Given the description of an element on the screen output the (x, y) to click on. 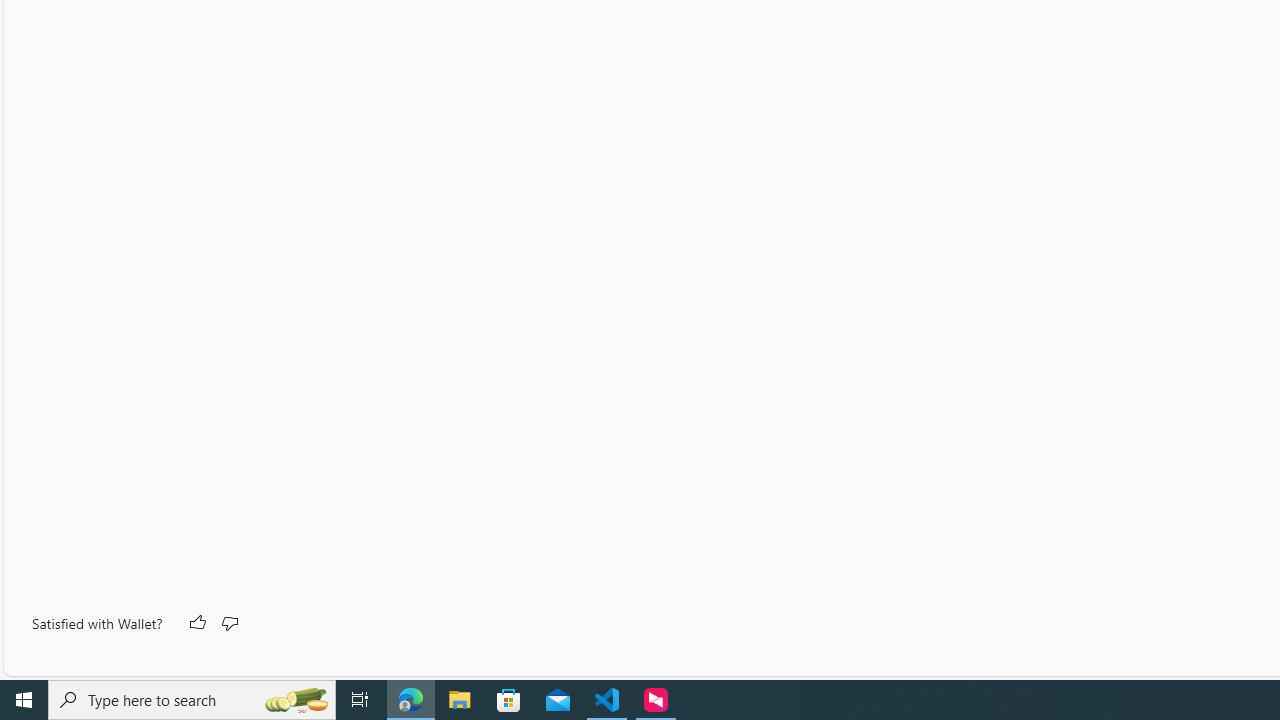
Like (196, 623)
